Given the description of an element on the screen output the (x, y) to click on. 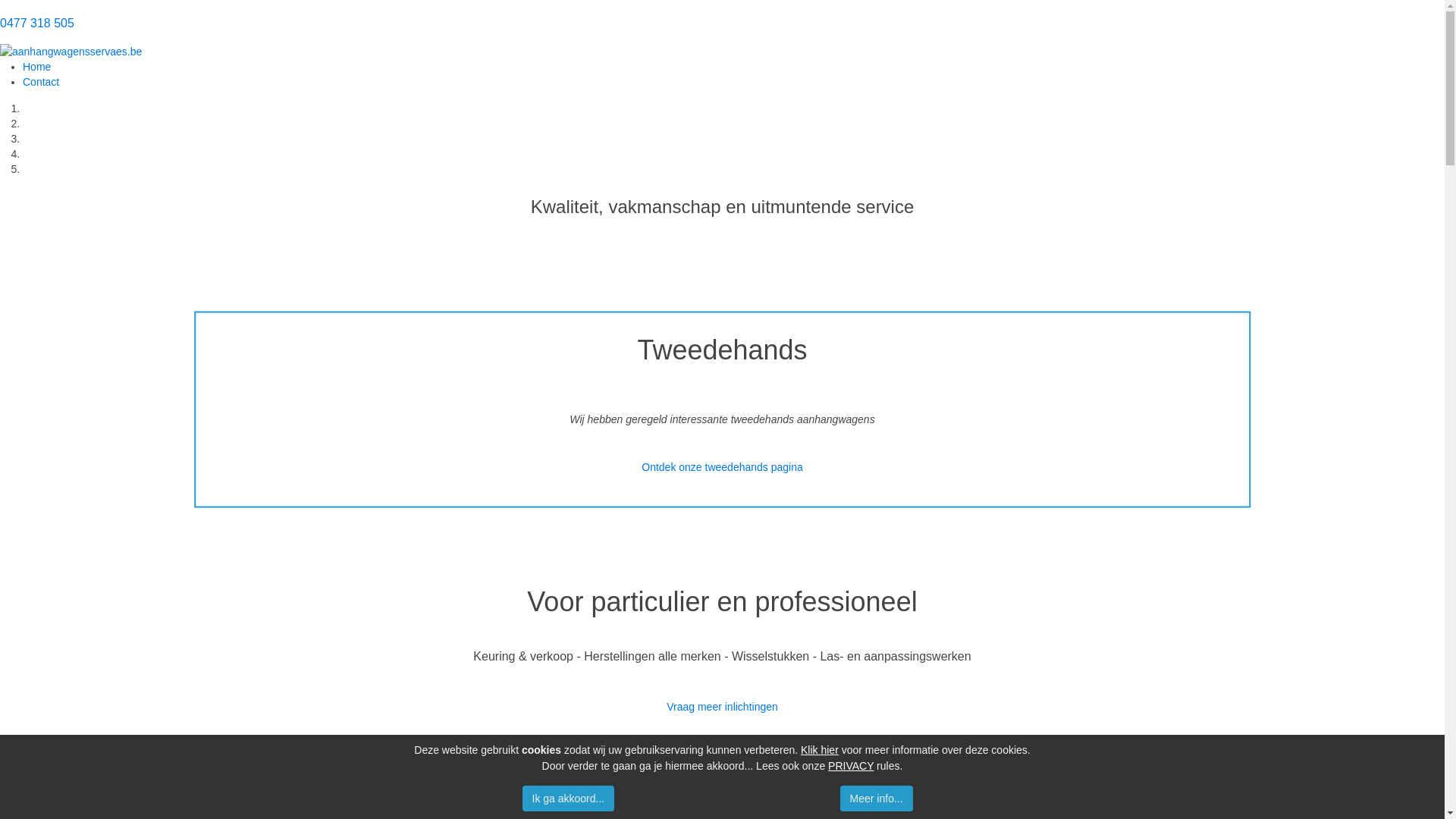
0477 318 505 Element type: text (37, 22)
Home Element type: text (36, 66)
Meer info... Element type: text (876, 798)
Ontdek onze tweedehands pagina Element type: text (722, 466)
Vraag meer inlichtingen Element type: text (722, 706)
Ik ga akkoord... Element type: text (568, 798)
PRIVACY Element type: text (850, 765)
Contact Element type: text (40, 81)
Klik hier Element type: text (819, 749)
